Given the description of an element on the screen output the (x, y) to click on. 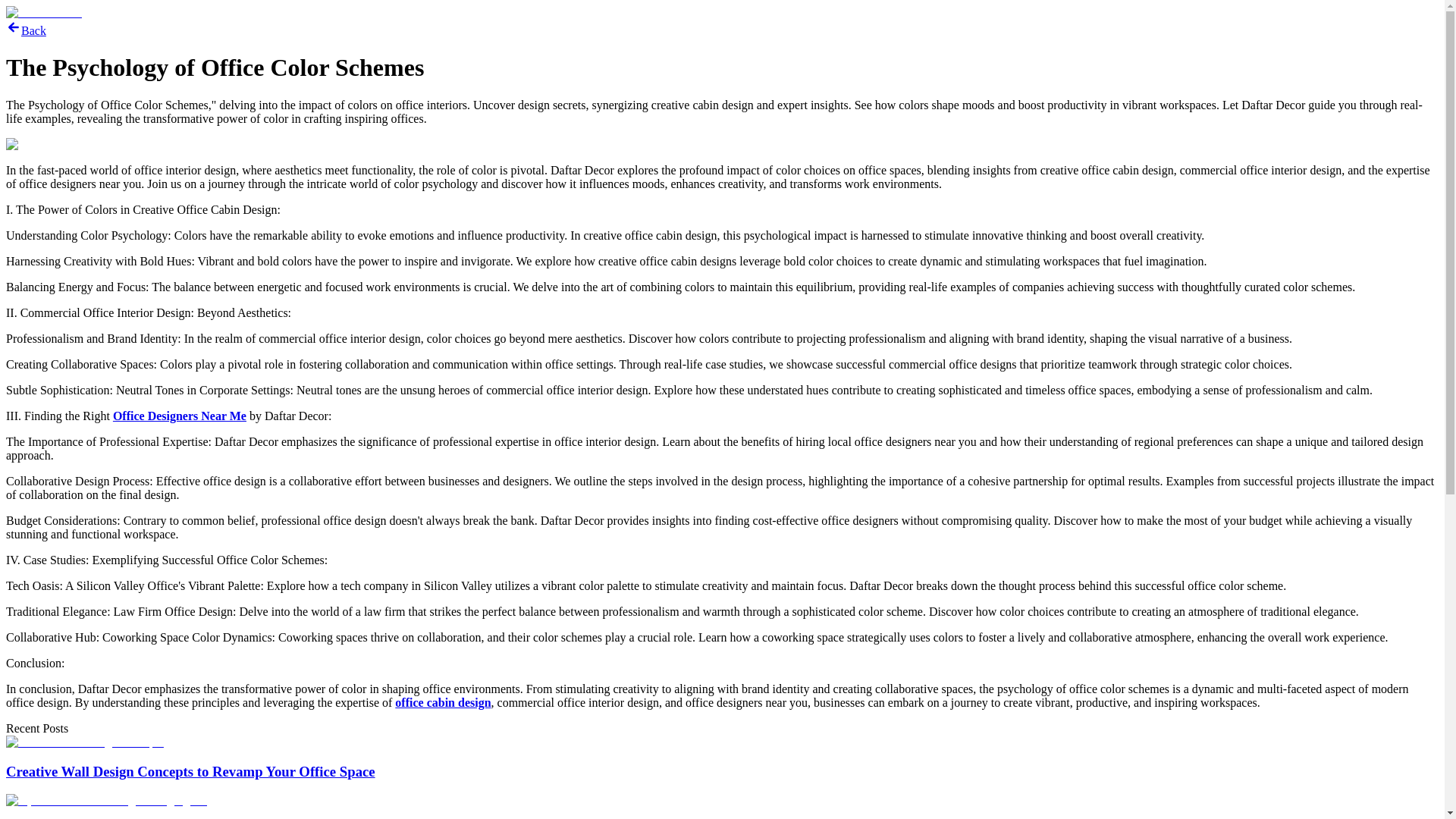
Office Designers Near Me (179, 415)
Back (25, 30)
office cabin design (442, 702)
